Given the description of an element on the screen output the (x, y) to click on. 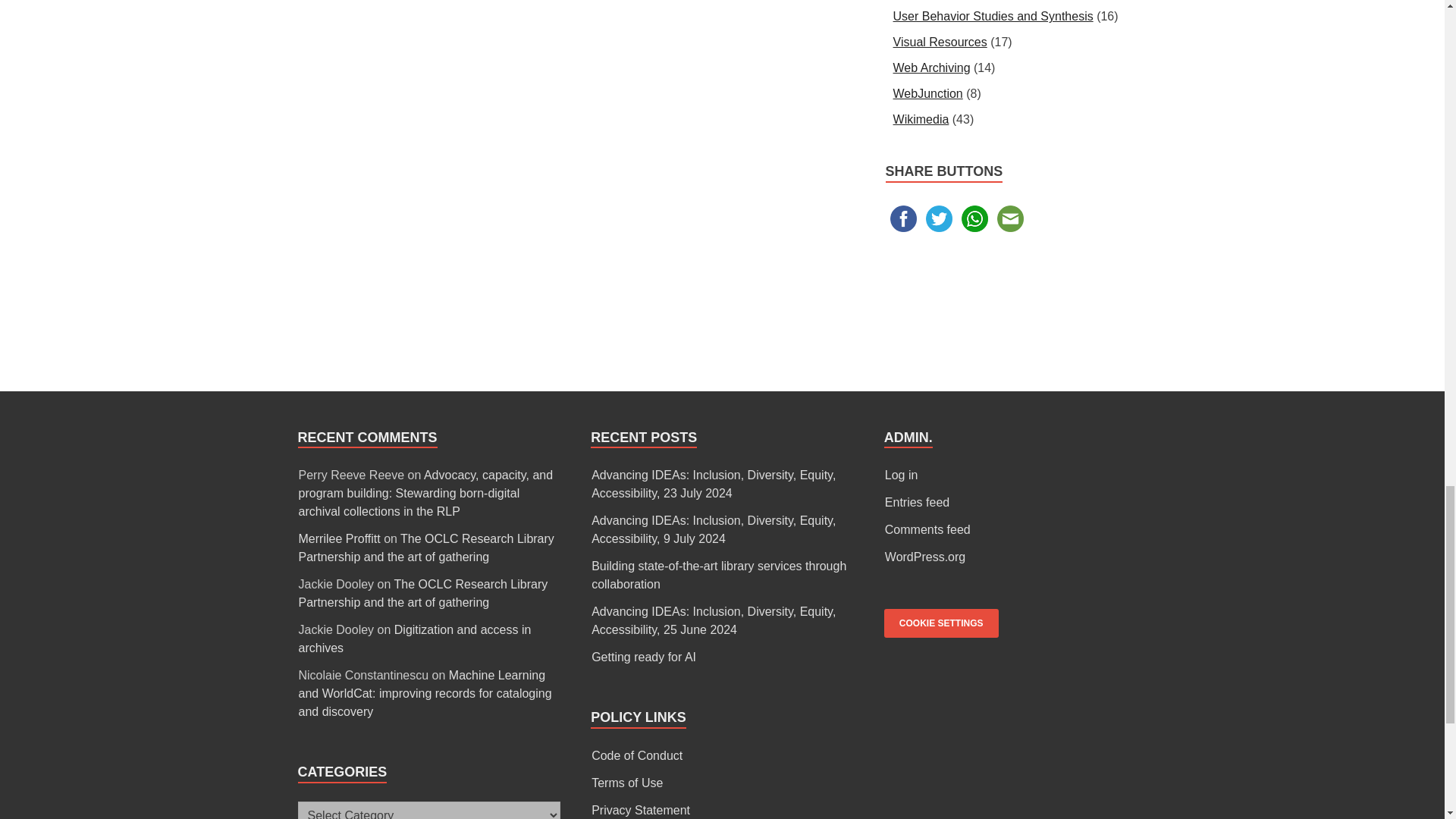
twitter (938, 218)
facebook (903, 218)
